Given the description of an element on the screen output the (x, y) to click on. 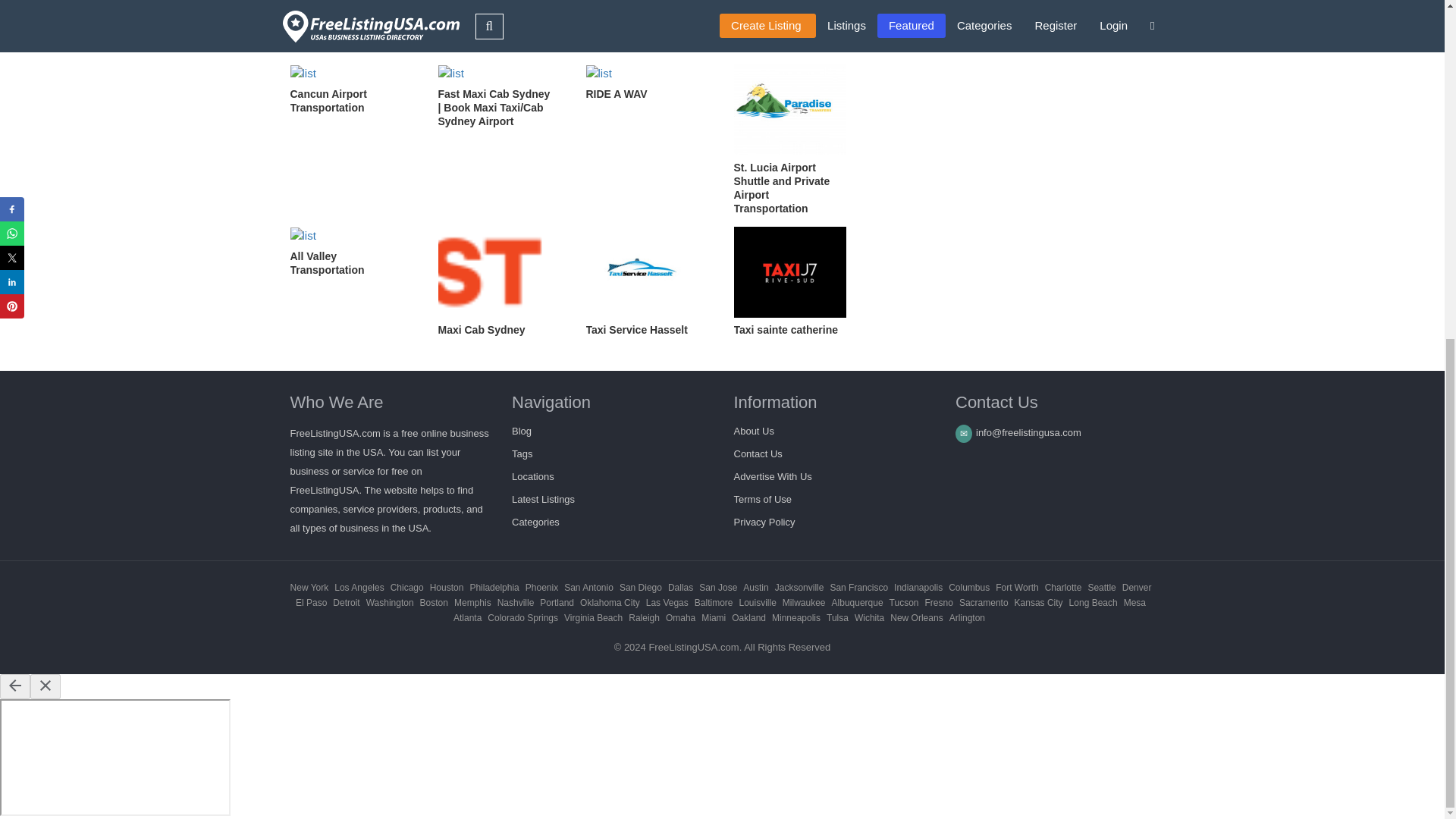
Advertise With Us (772, 476)
Local business listing in New York (309, 587)
All Valley Transportation (351, 251)
Privacy Policy (763, 521)
Taxi Service Hasselt (647, 281)
RIDE A WAV (647, 82)
airport taxi transfers (456, 9)
FreeListingUSA Blog (521, 430)
airport transfers (363, 9)
Terms of Use (762, 499)
